Given the description of an element on the screen output the (x, y) to click on. 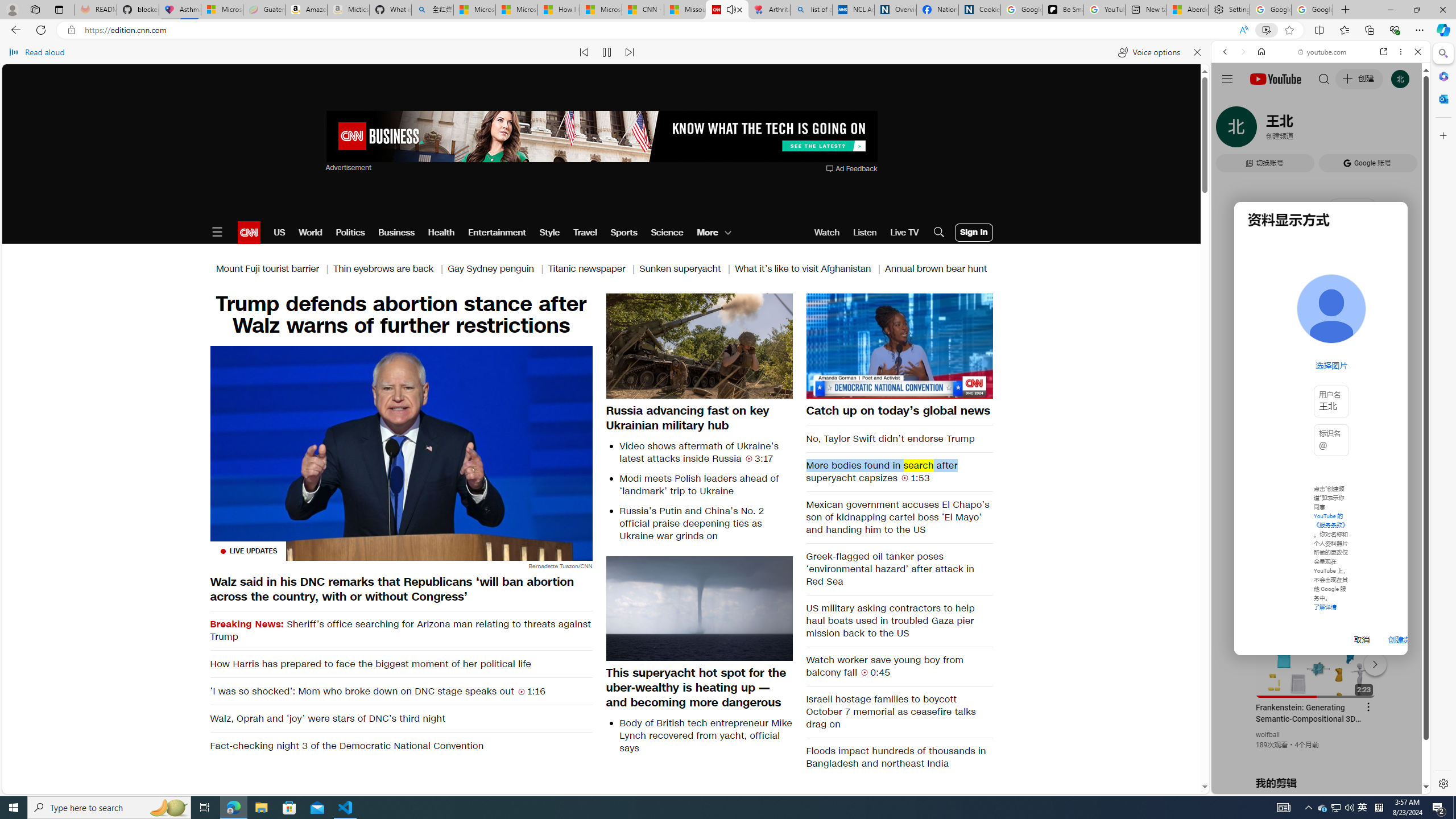
AutomationID: aw0 (600, 136)
Options (952, 389)
Open Menu Icon (216, 232)
Gay Sydney penguin | (497, 268)
